Given the description of an element on the screen output the (x, y) to click on. 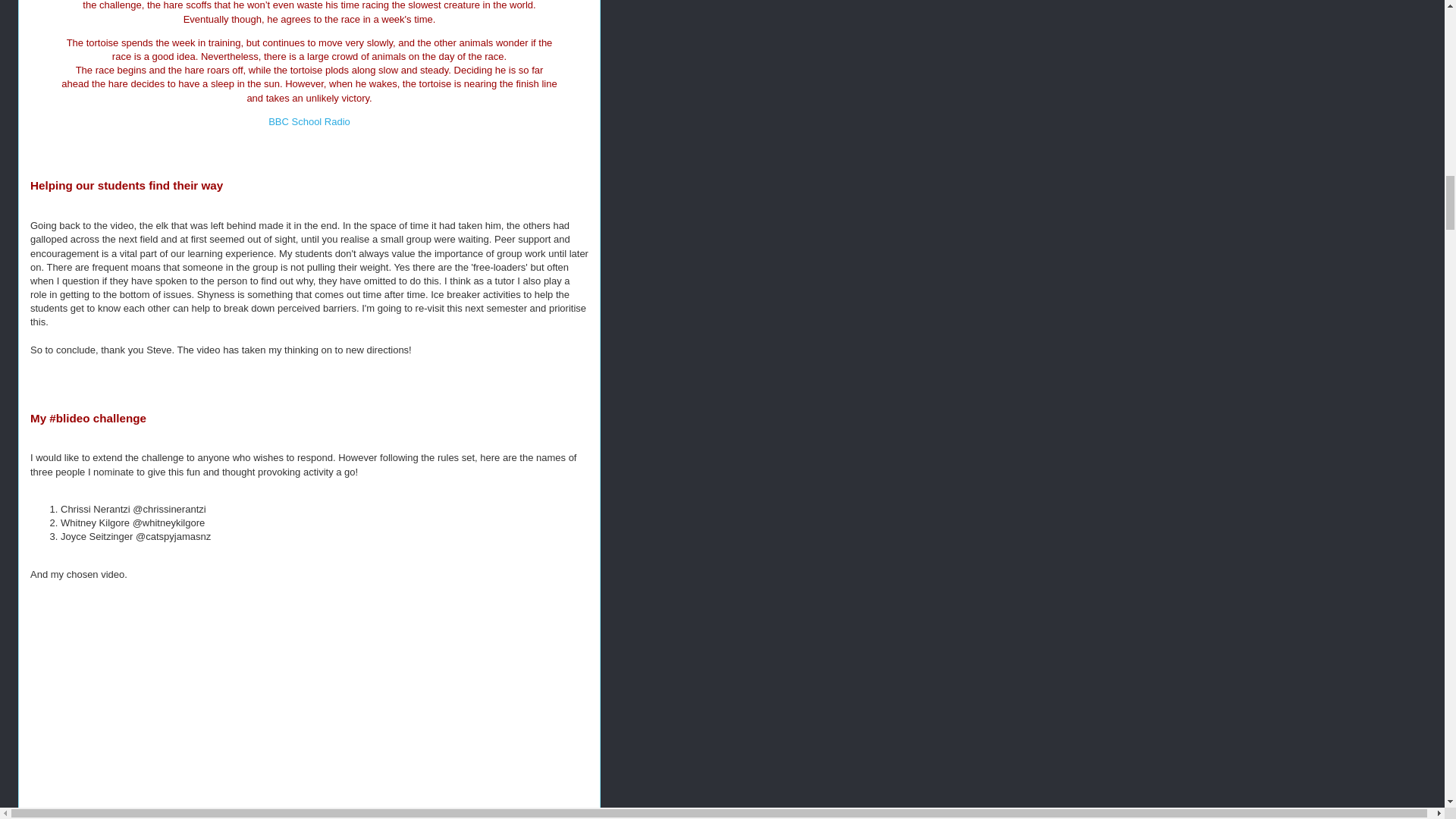
BBC School Radio (308, 121)
